Given the description of an element on the screen output the (x, y) to click on. 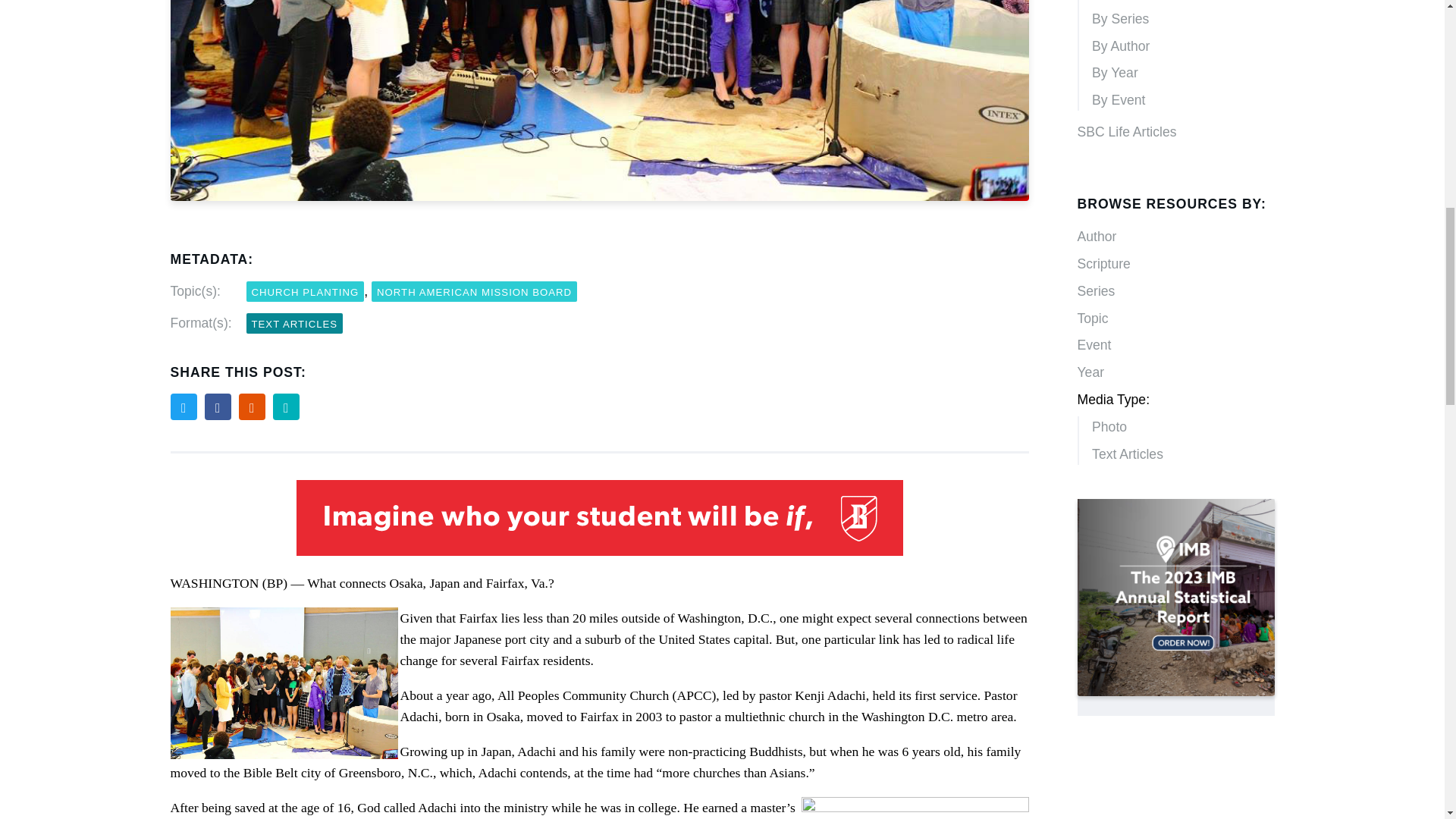
TEXT ARTICLES (294, 322)
NORTH AMERICAN MISSION BOARD (473, 291)
CHURCH PLANTING (305, 291)
